Given the description of an element on the screen output the (x, y) to click on. 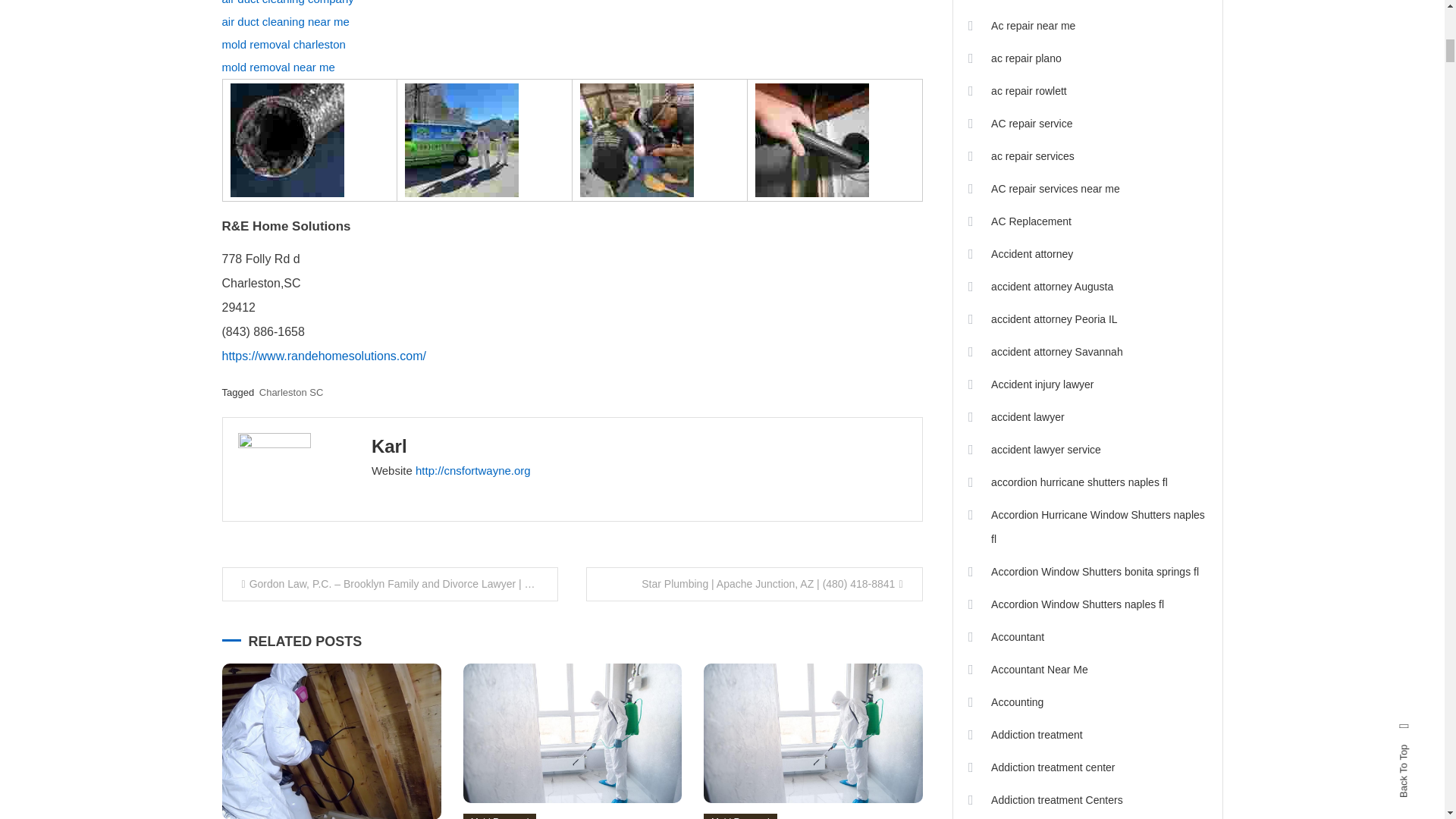
Posts by Karl (389, 445)
